Given the description of an element on the screen output the (x, y) to click on. 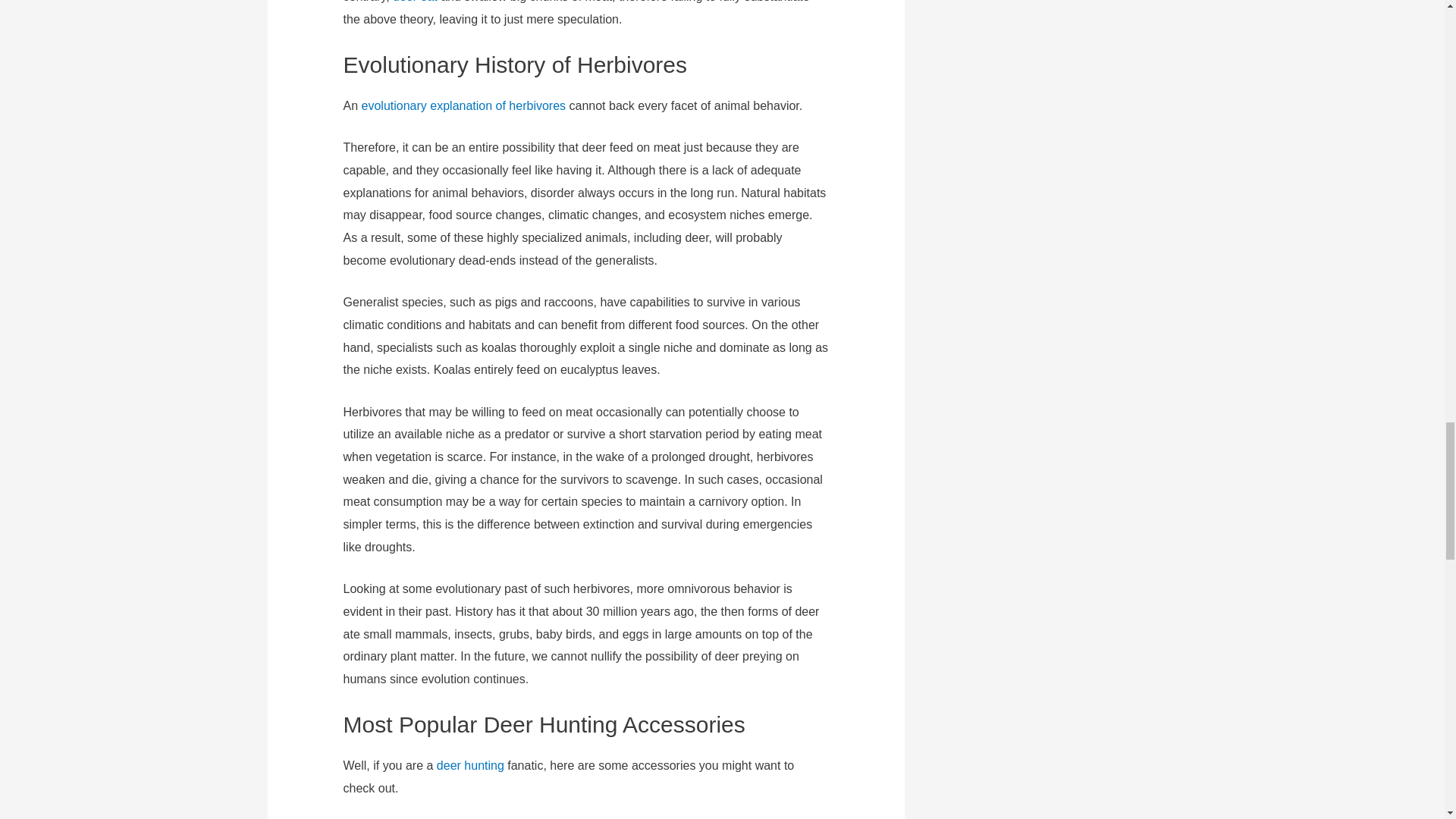
evolutionary explanation of herbivores (463, 105)
deer hunting (469, 765)
deer eat (415, 1)
